Given the description of an element on the screen output the (x, y) to click on. 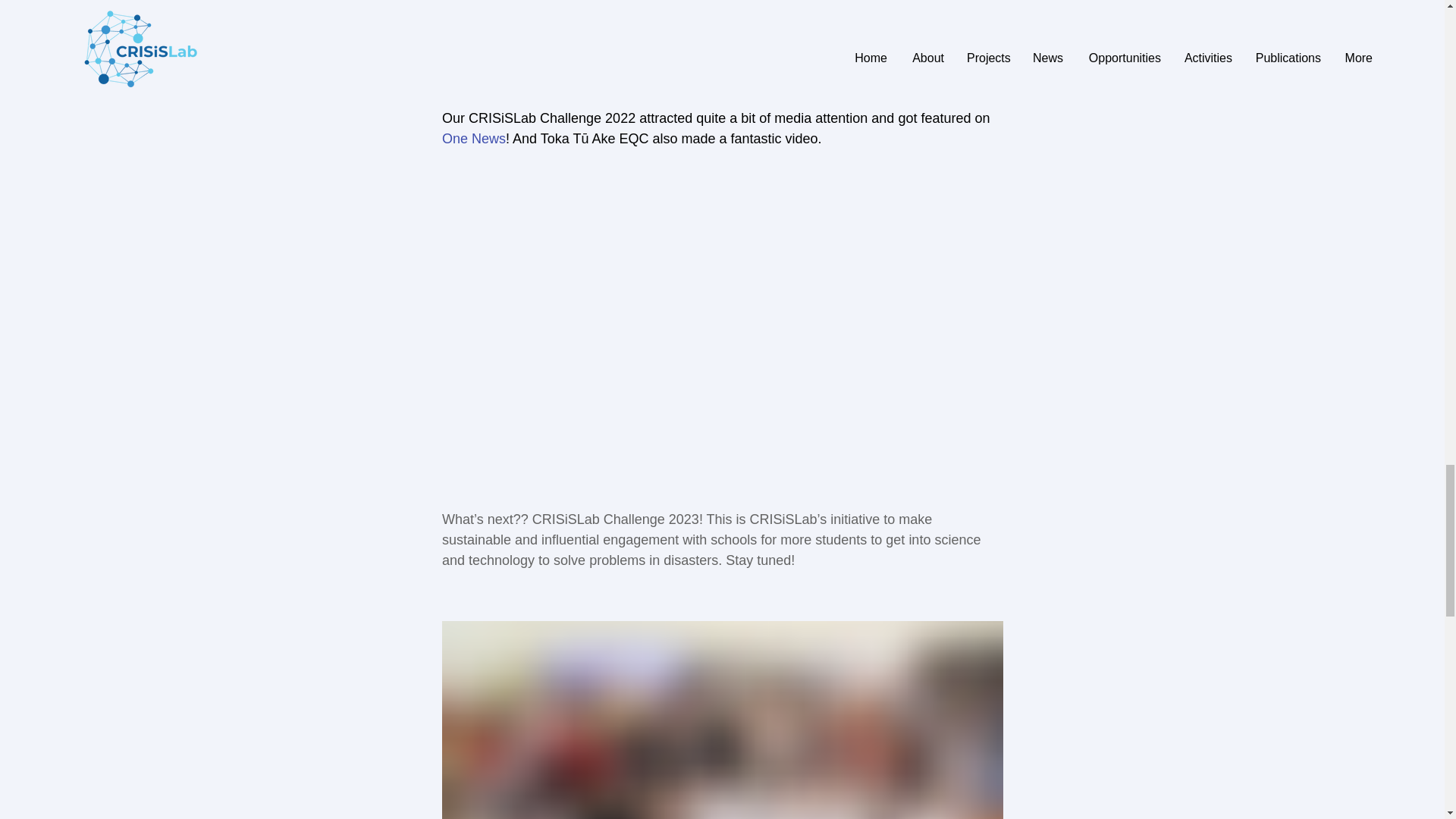
One News (473, 138)
